Given the description of an element on the screen output the (x, y) to click on. 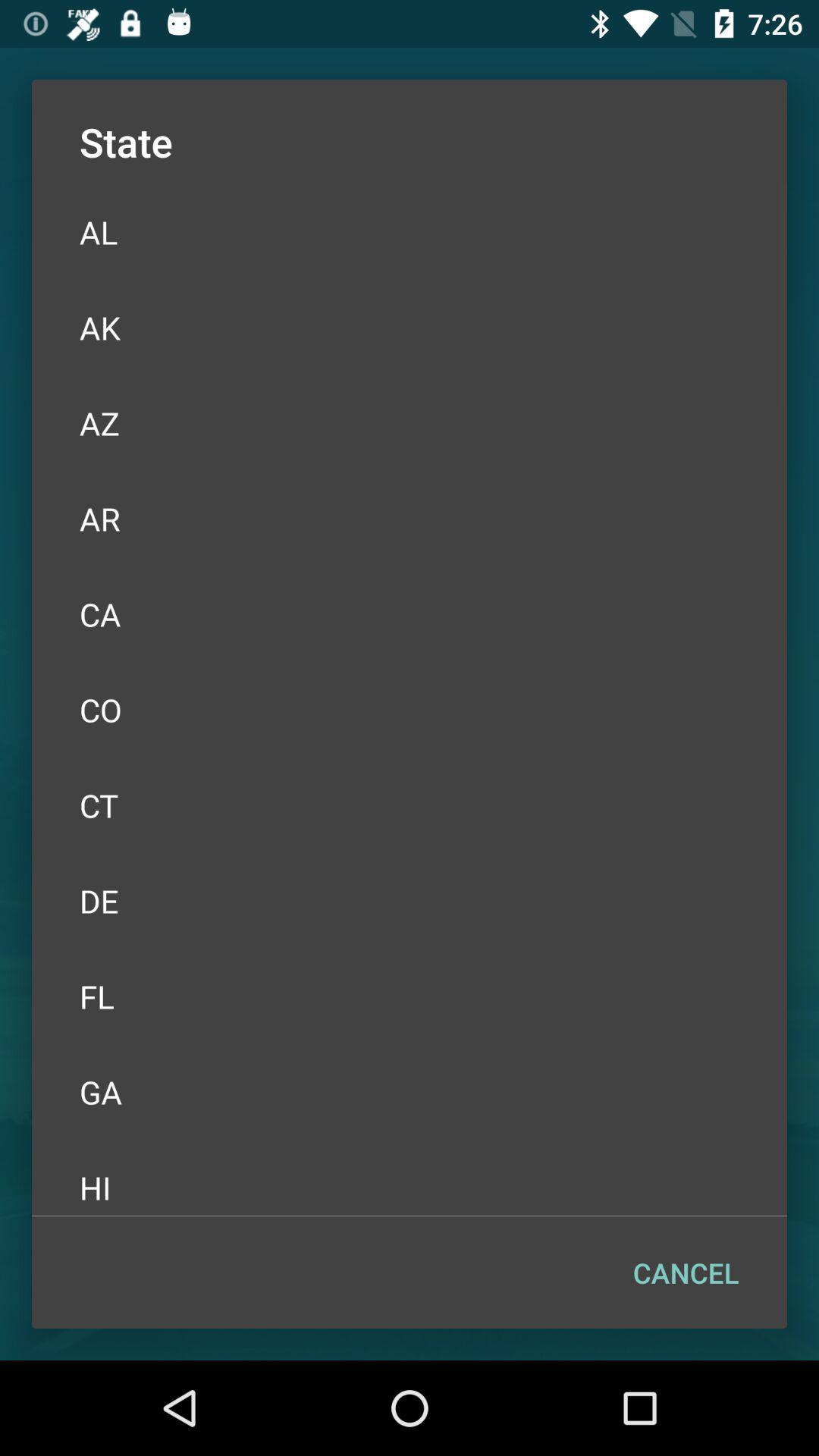
turn on the az item (409, 422)
